Given the description of an element on the screen output the (x, y) to click on. 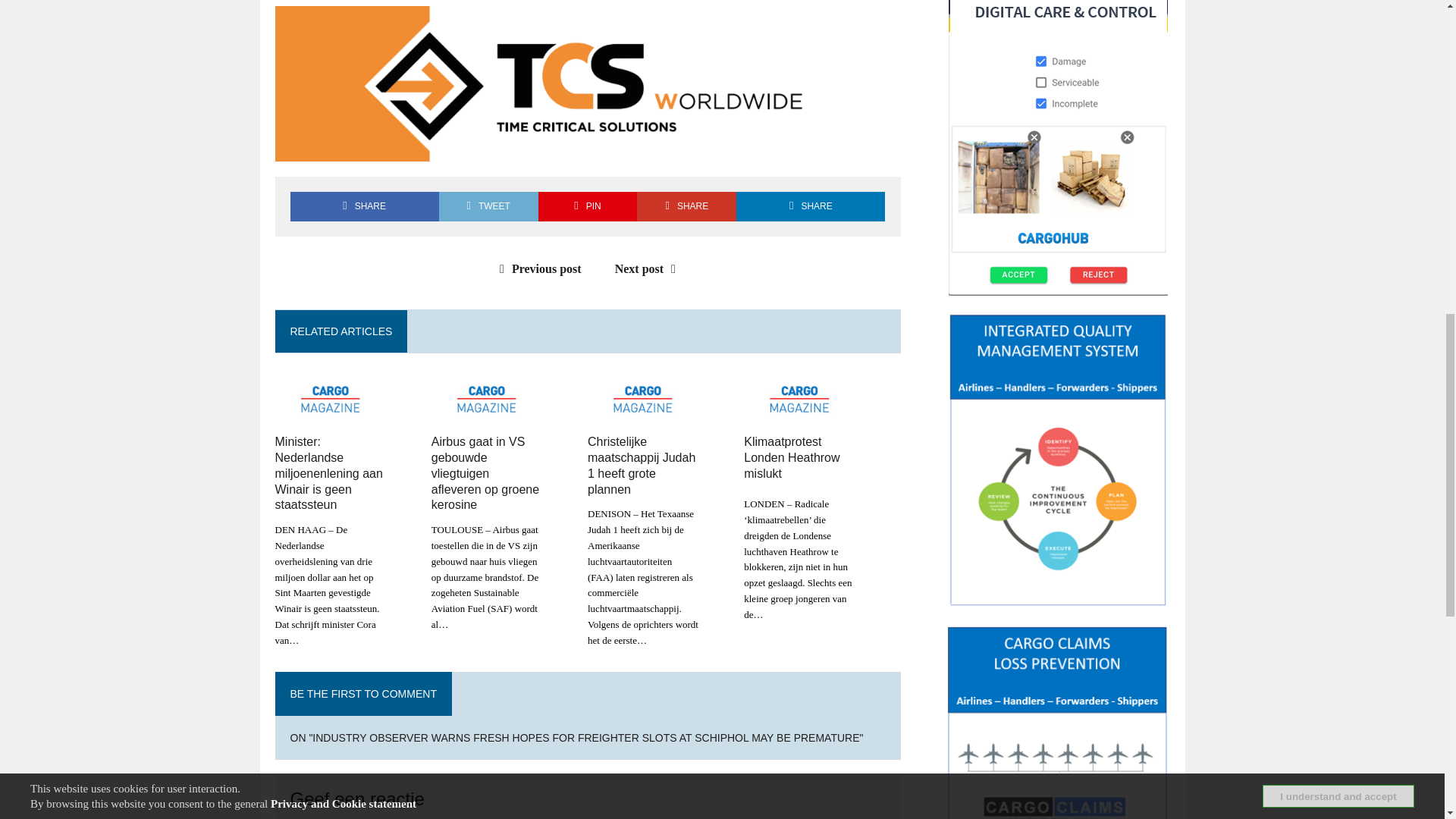
Share on Facebook (363, 206)
Share on Linkedin (810, 206)
Pin This Post (587, 206)
Tweet This Post (488, 206)
